Given the description of an element on the screen output the (x, y) to click on. 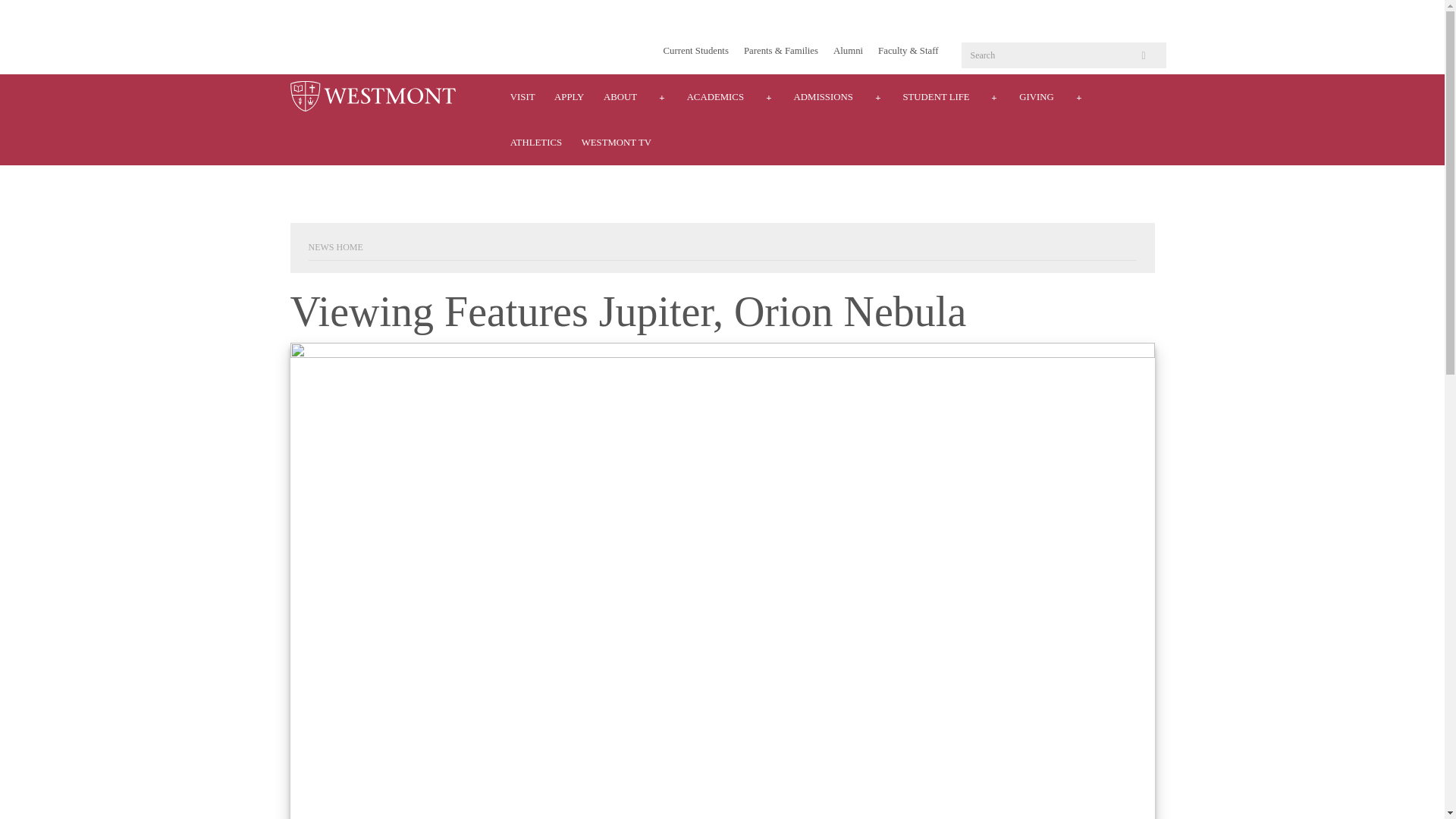
ACADEMICS (715, 96)
home (371, 96)
Alumni (847, 50)
Visit (522, 96)
VISIT (522, 96)
Alumni (847, 50)
Current Students (696, 50)
ABOUT (620, 96)
Apply (569, 96)
